Given the description of an element on the screen output the (x, y) to click on. 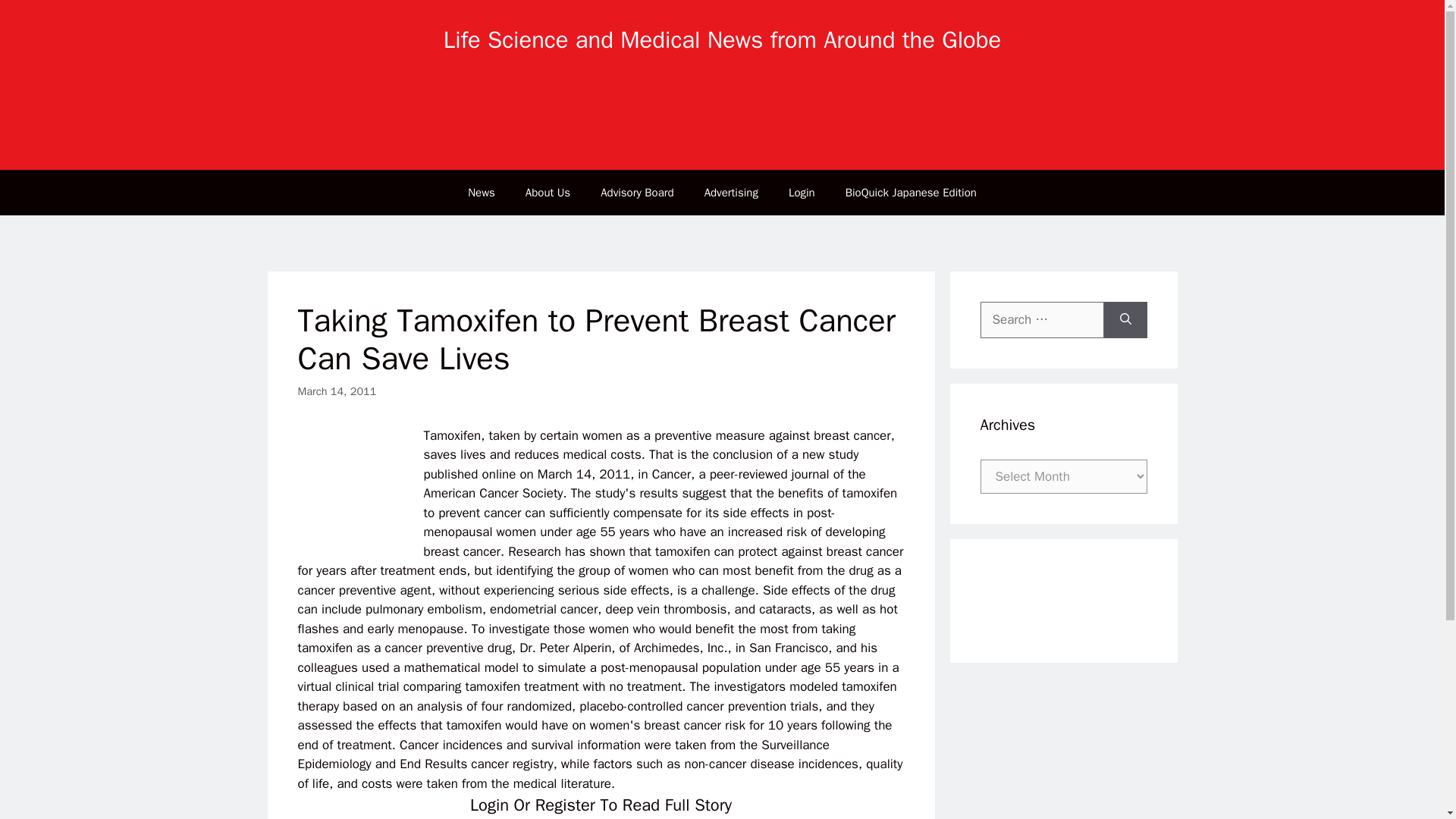
Advertising (730, 192)
BioQuick Japanese Edition (910, 192)
Search for: (1041, 320)
Advisory Board (636, 192)
News (481, 192)
Login (801, 192)
About Us (548, 192)
